Given the description of an element on the screen output the (x, y) to click on. 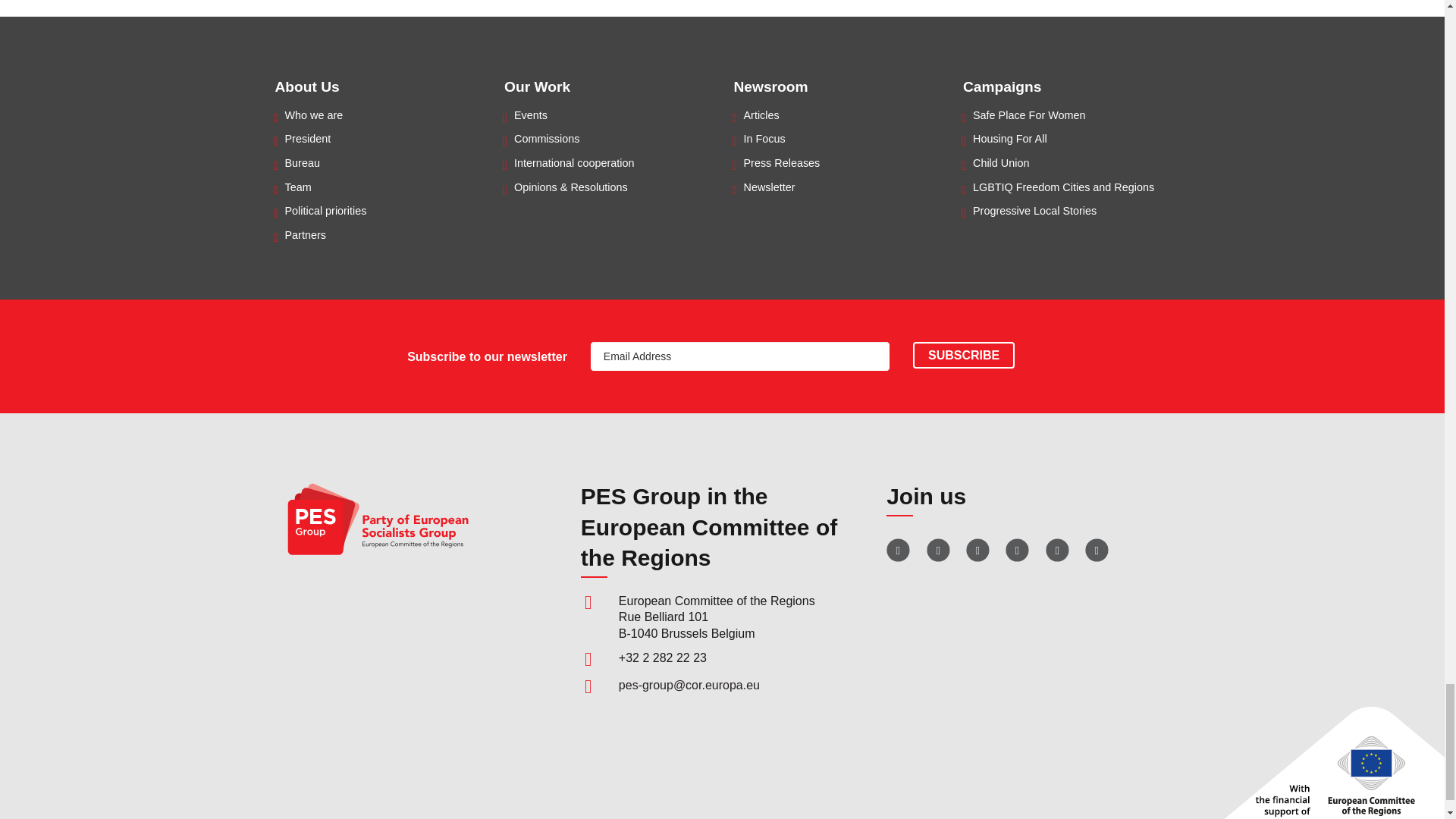
Expand menu Campaigns (1001, 86)
Expand menu Our Work (536, 86)
Expand menu Newsroom (770, 86)
Expand menu About Us (307, 86)
